Given the description of an element on the screen output the (x, y) to click on. 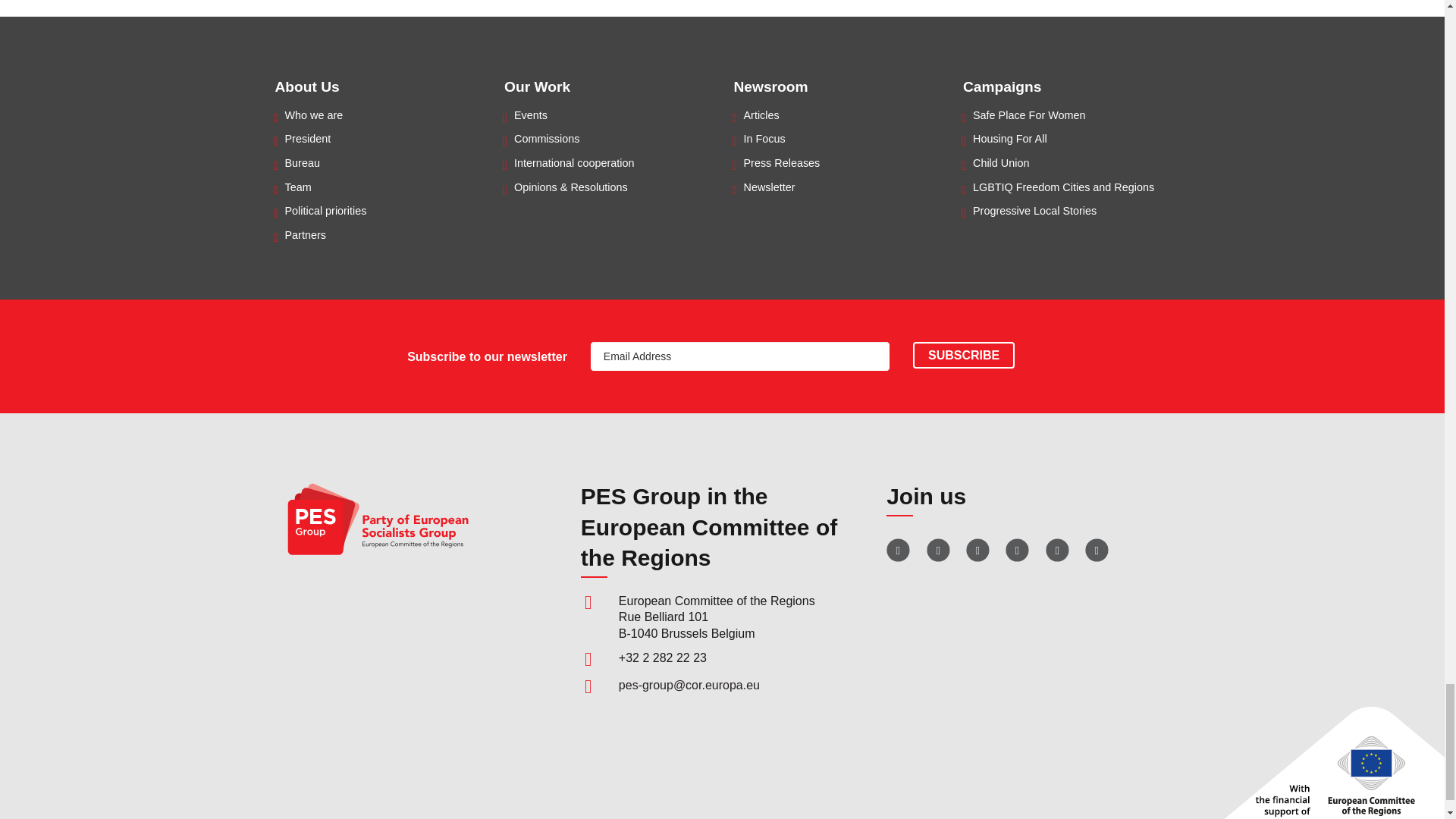
Expand menu Campaigns (1001, 86)
Expand menu Our Work (536, 86)
Expand menu Newsroom (770, 86)
Expand menu About Us (307, 86)
